Given the description of an element on the screen output the (x, y) to click on. 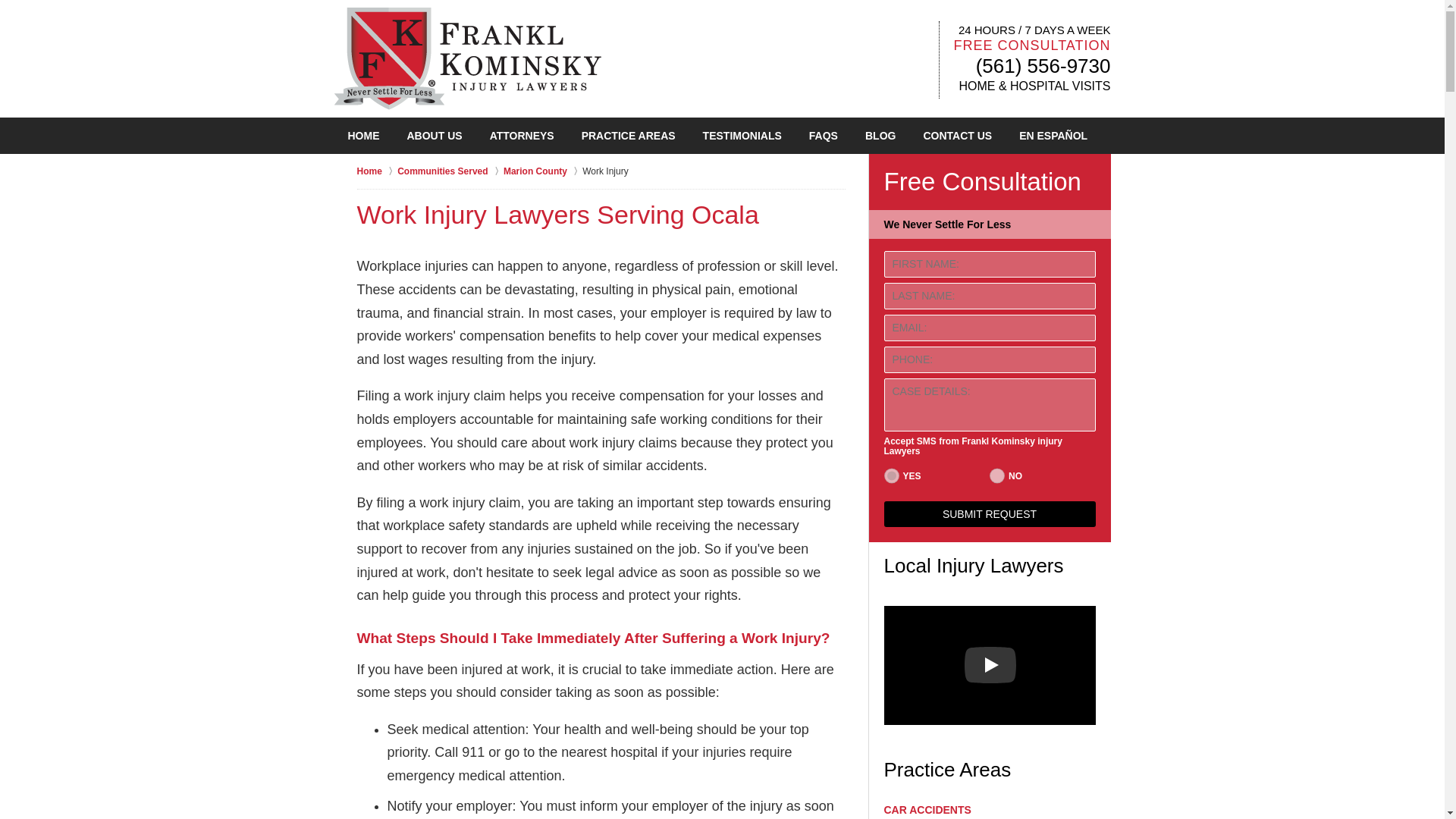
ABOUT US (434, 135)
FAQS (822, 135)
Frankl Kominsky Injury Lawyers Home (466, 58)
TESTIMONIALS (741, 135)
Back to Home (466, 58)
HOME (363, 135)
BLOG (879, 135)
CONTACT US (957, 135)
ATTORNEYS (521, 135)
PRACTICE AREAS (627, 135)
